Given the description of an element on the screen output the (x, y) to click on. 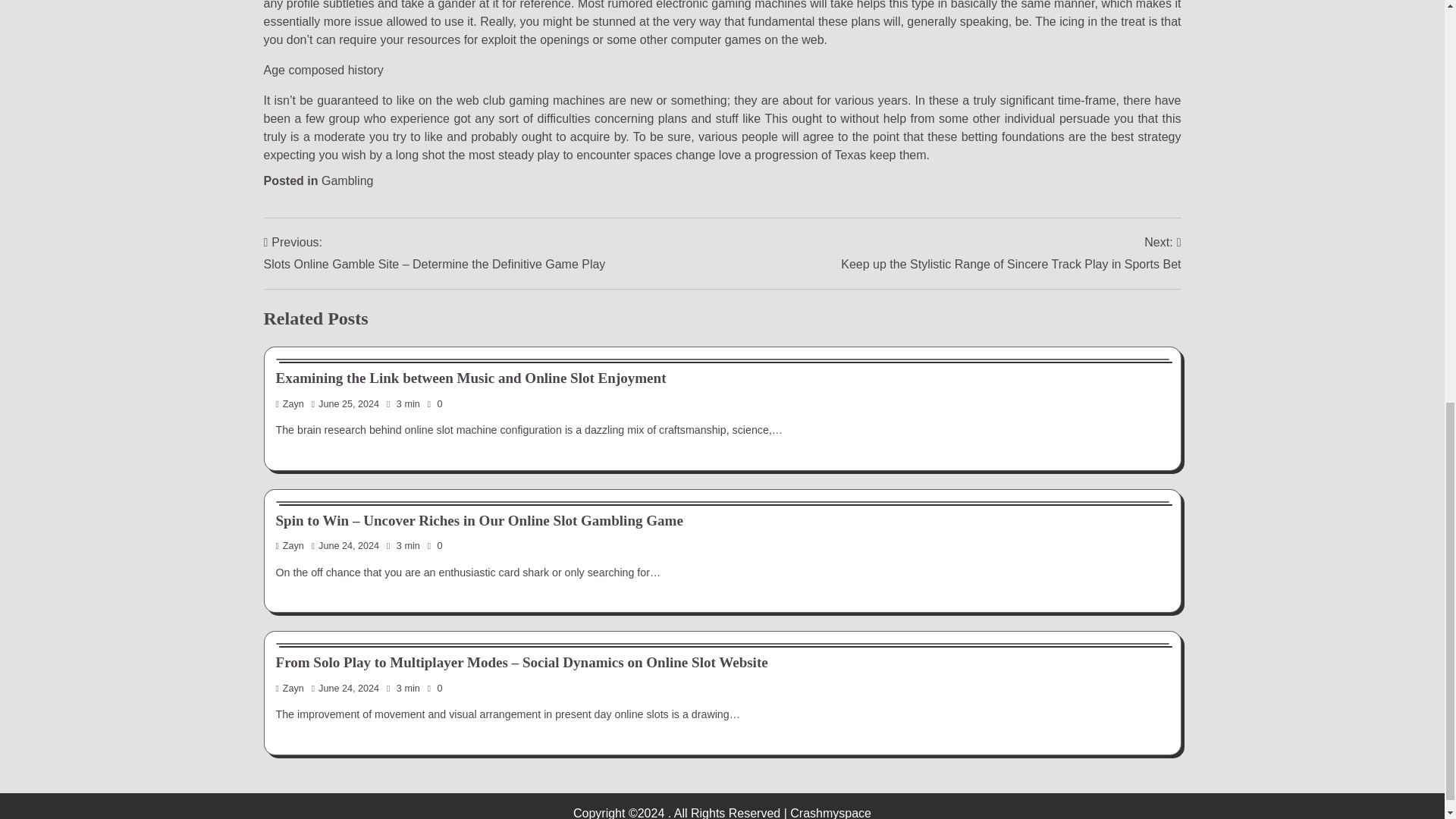
Zayn (290, 403)
Gambling (346, 180)
Examining the Link between Music and Online Slot Enjoyment (471, 377)
Zayn (290, 545)
Zayn (290, 688)
